Given the description of an element on the screen output the (x, y) to click on. 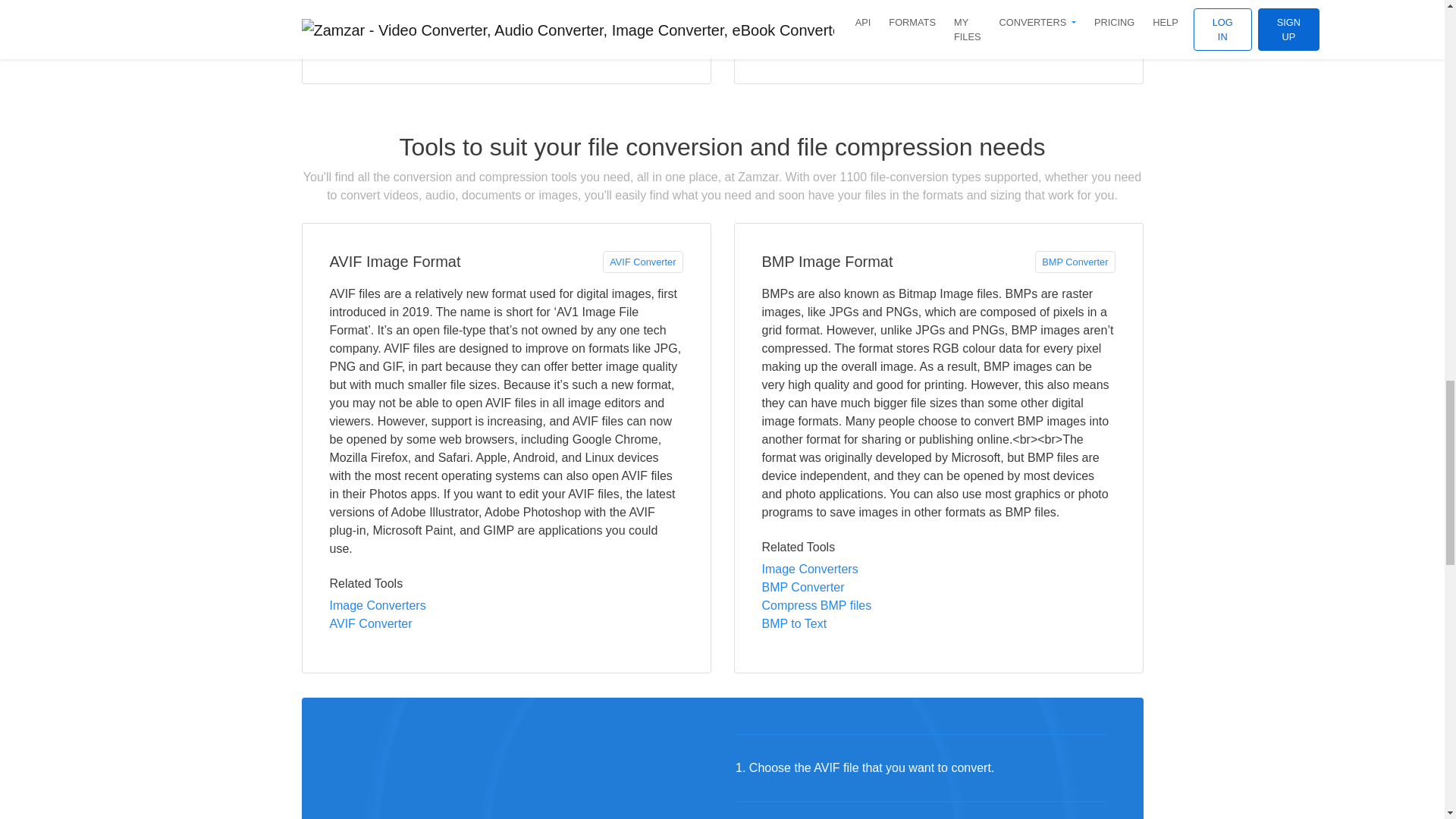
Convert AVIF files (642, 261)
Convert BMP files (1075, 261)
Compress BMP files (815, 604)
Convert Image files (377, 604)
Convert BMP files (802, 586)
Convert Image files (809, 568)
Convert AVIF files (370, 623)
